Given the description of an element on the screen output the (x, y) to click on. 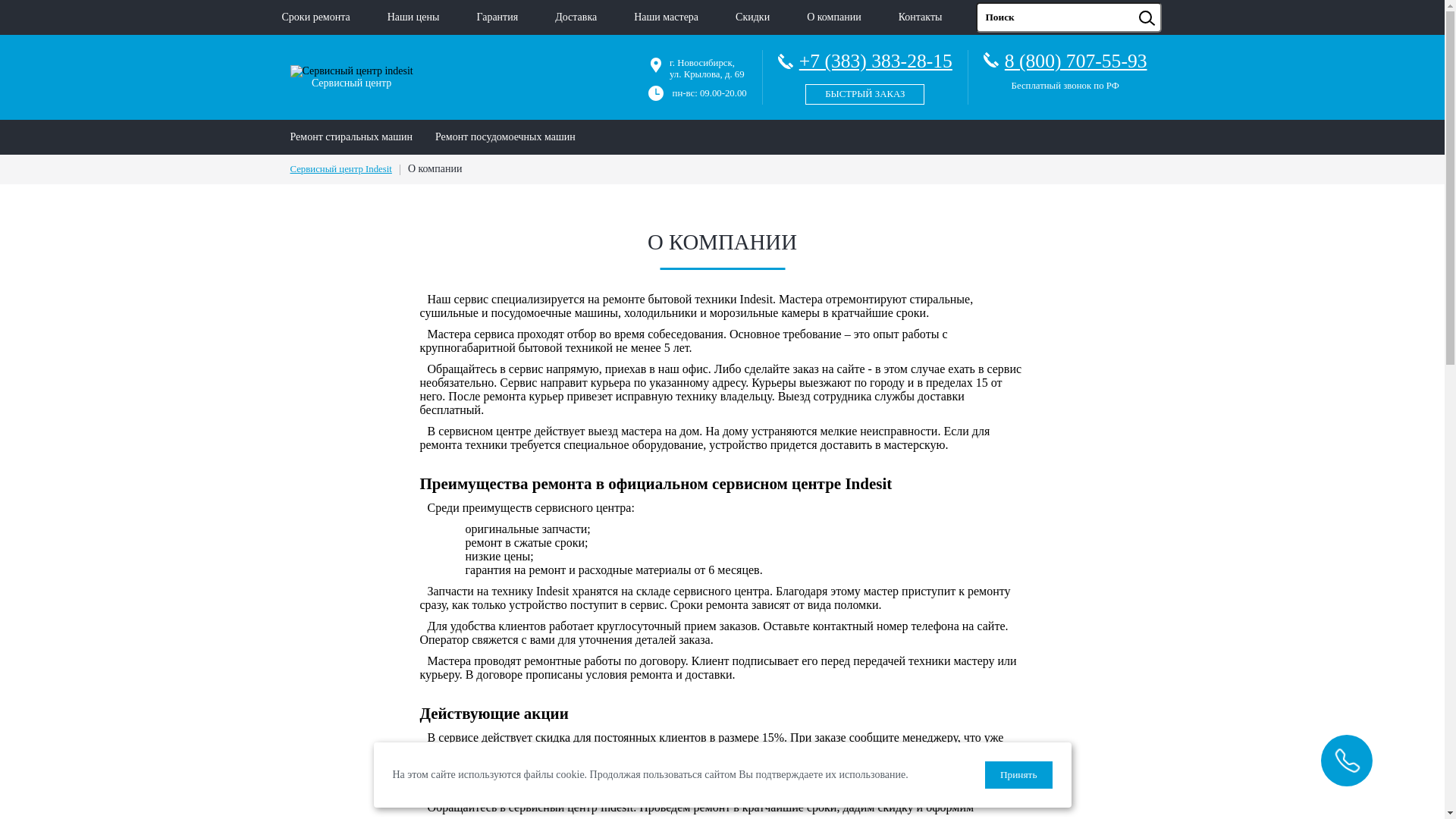
8 (800) 707-55-93 Element type: text (1075, 61)
sisea.search Element type: text (1165, 2)
+7 (383) 383-28-15 Element type: text (865, 74)
